Given the description of an element on the screen output the (x, y) to click on. 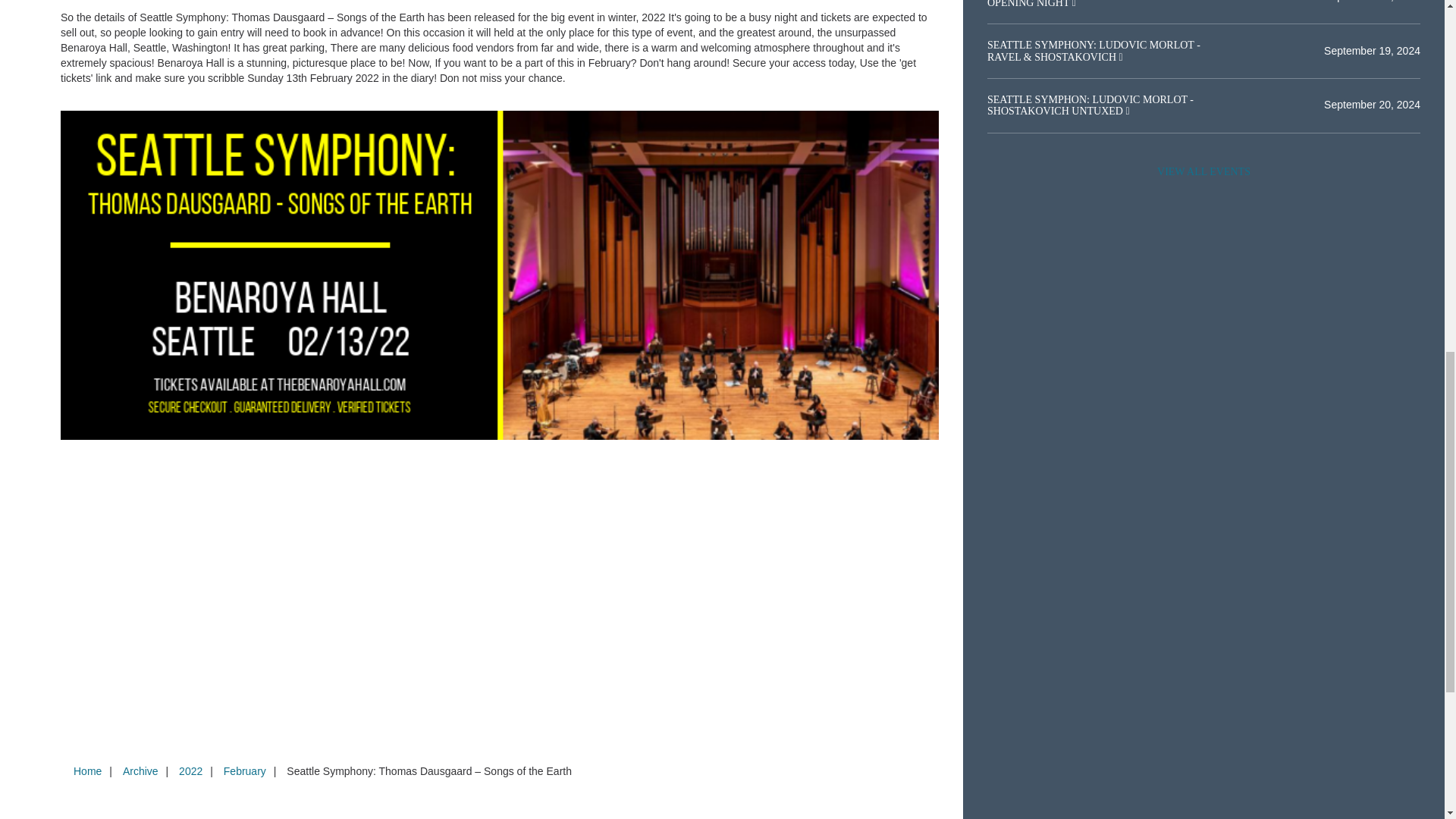
2022 (190, 770)
February (244, 770)
Home (87, 770)
Archive (140, 770)
VIEW ALL EVENTS (1203, 172)
